Given the description of an element on the screen output the (x, y) to click on. 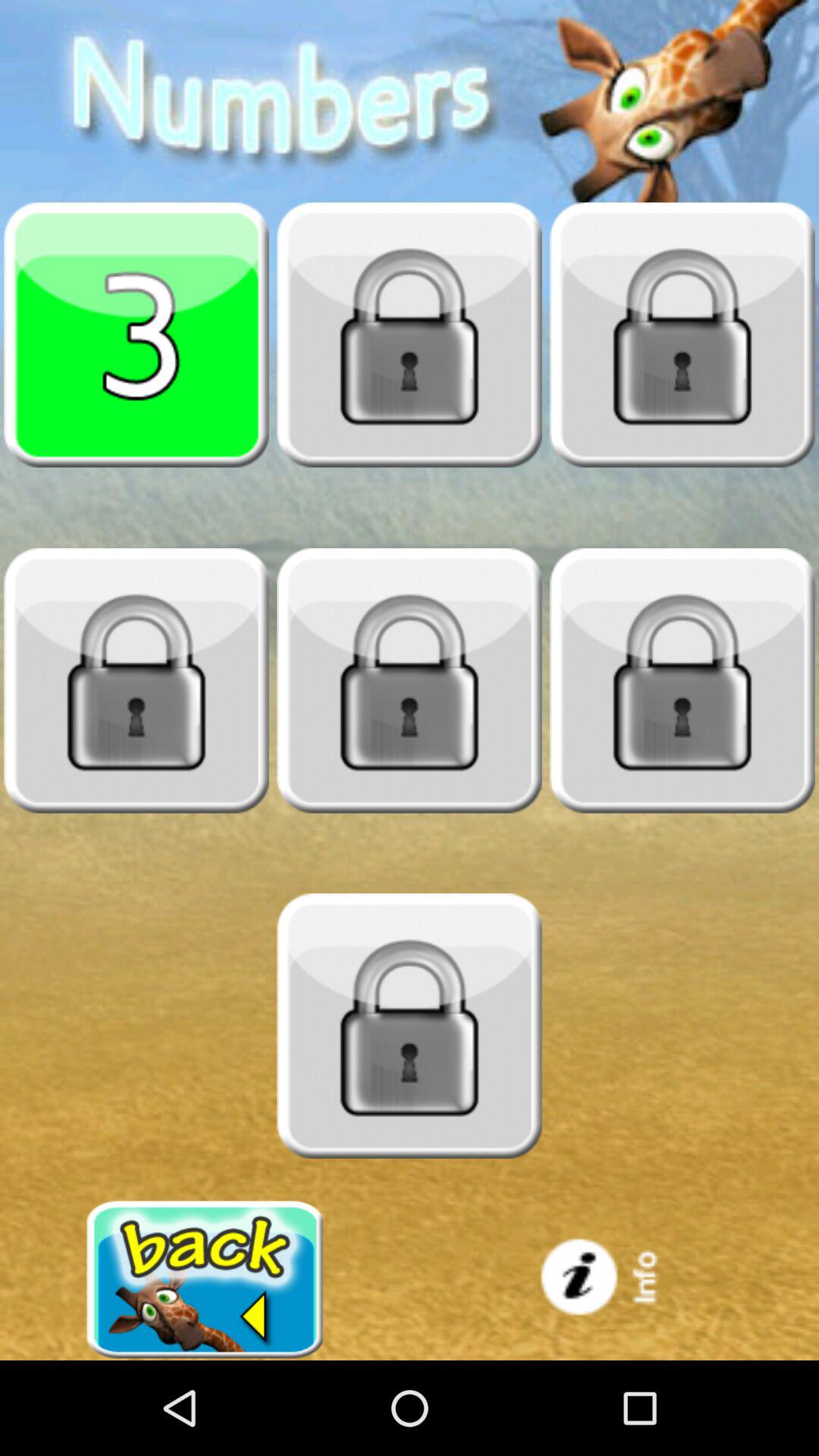
pick 3 (136, 334)
